Given the description of an element on the screen output the (x, y) to click on. 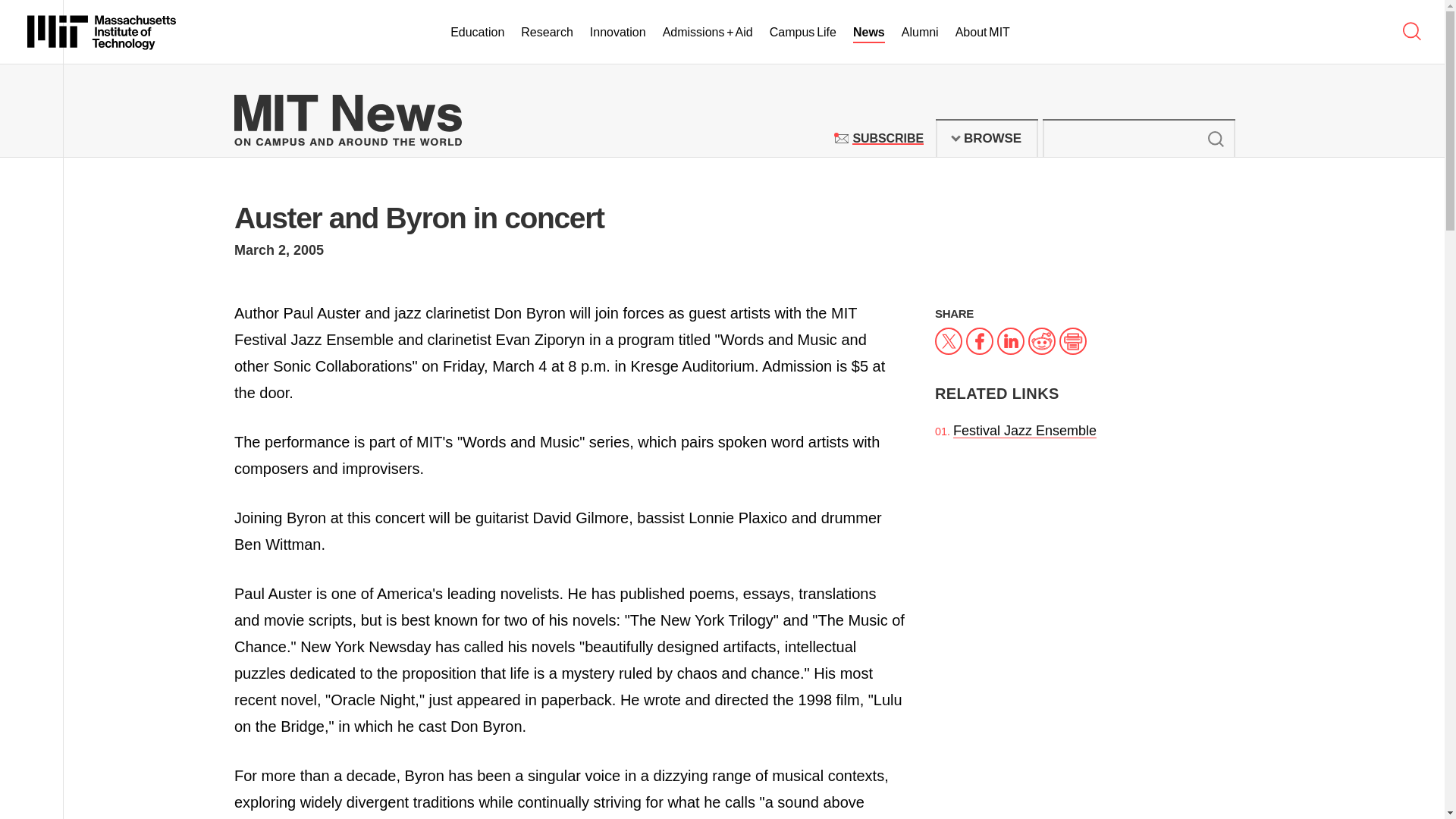
Massachusetts Institute of Technology (101, 32)
BROWSE (987, 138)
Research (546, 32)
Education (887, 137)
About MIT (476, 32)
Innovation (982, 32)
Alumni (617, 32)
Submit (920, 32)
News (1214, 138)
Campus Life (869, 32)
